Given the description of an element on the screen output the (x, y) to click on. 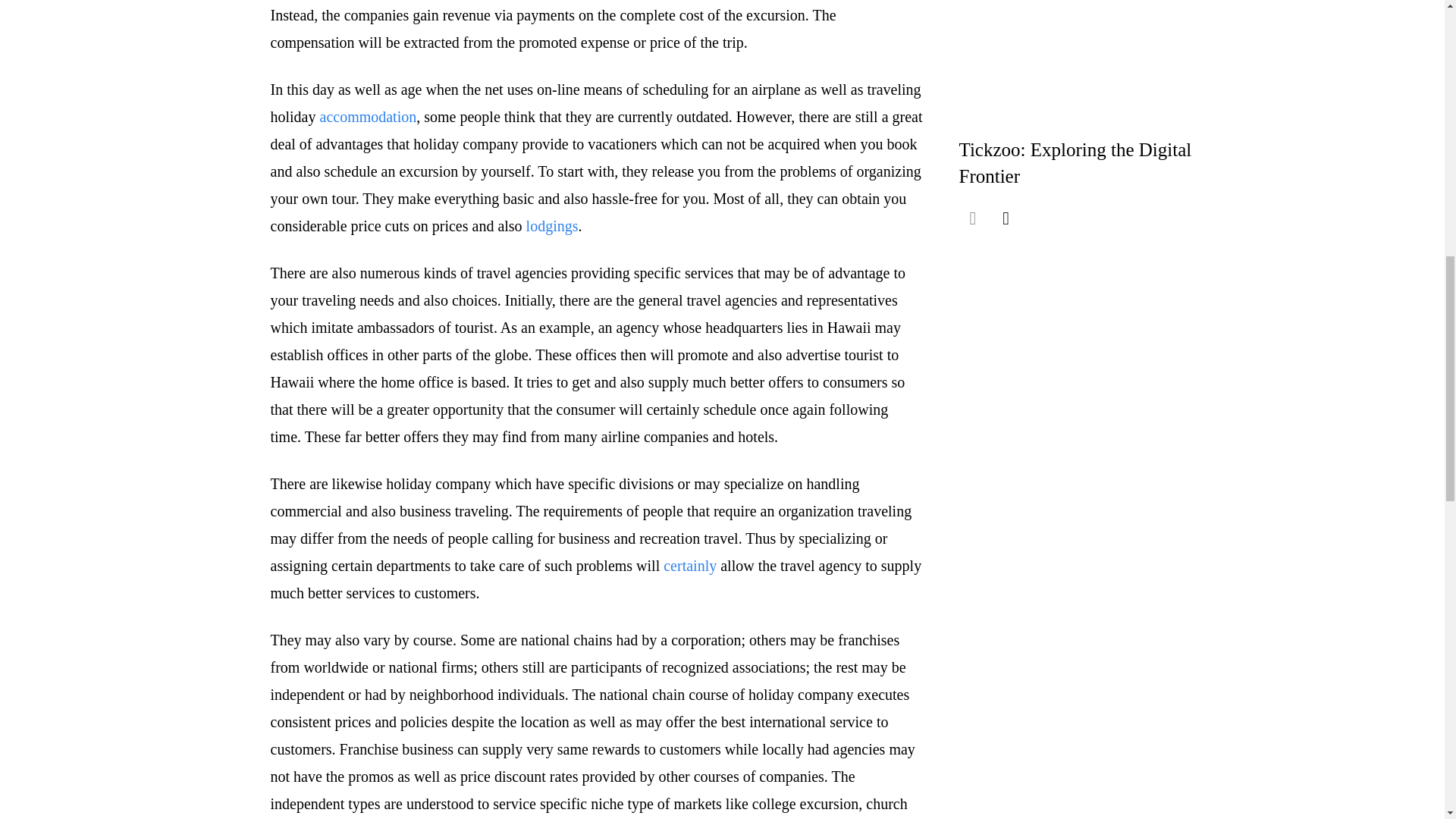
Tickzoo: Exploring the Digital Frontier (1074, 162)
Tickzoo: Exploring the Digital Frontier (1103, 63)
lodgings (551, 225)
Tickzoo: Exploring the Digital Frontier (1074, 162)
accommodation (368, 116)
certainly (689, 565)
